Given the description of an element on the screen output the (x, y) to click on. 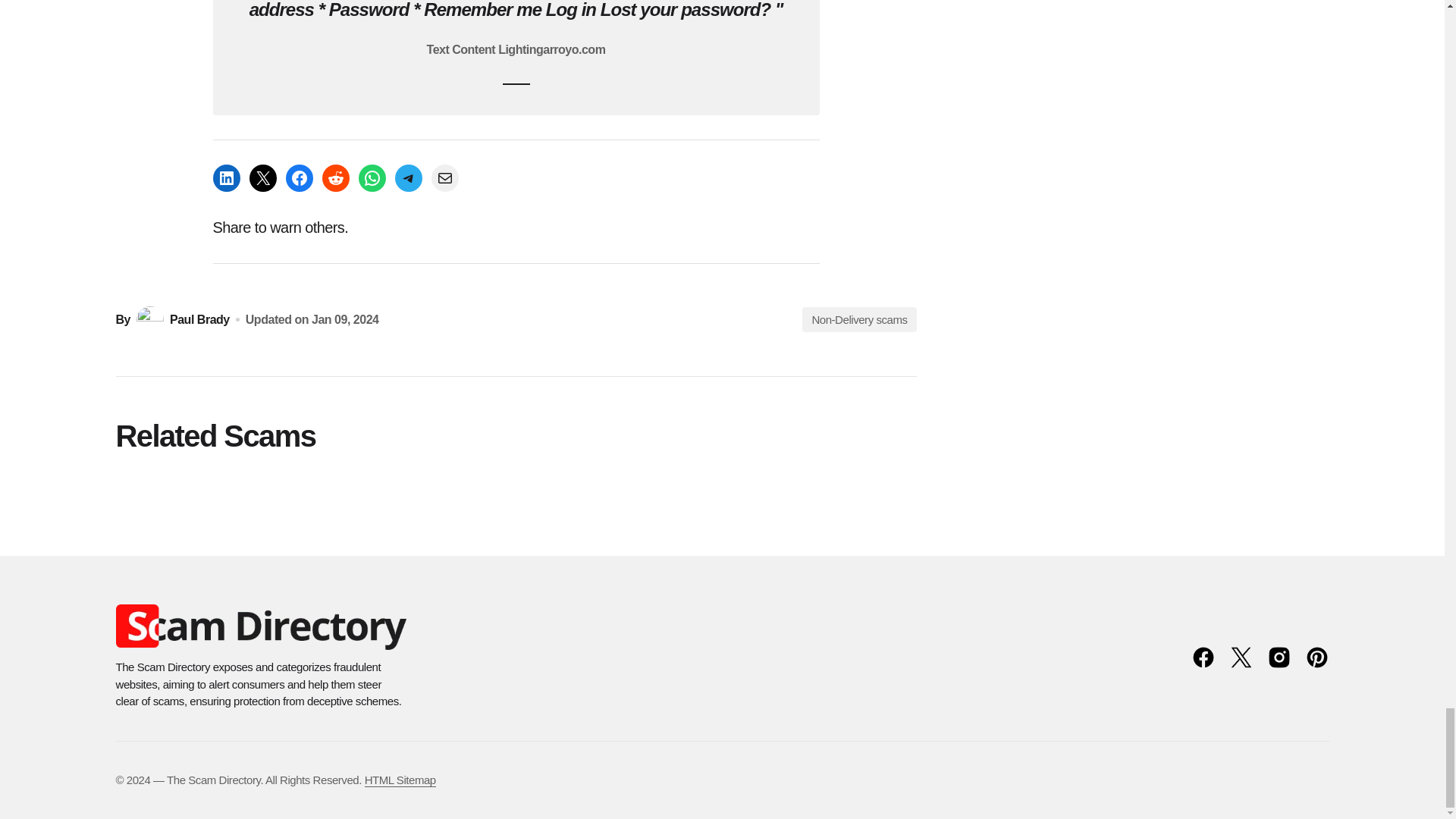
Paul Brady (181, 319)
